Given the description of an element on the screen output the (x, y) to click on. 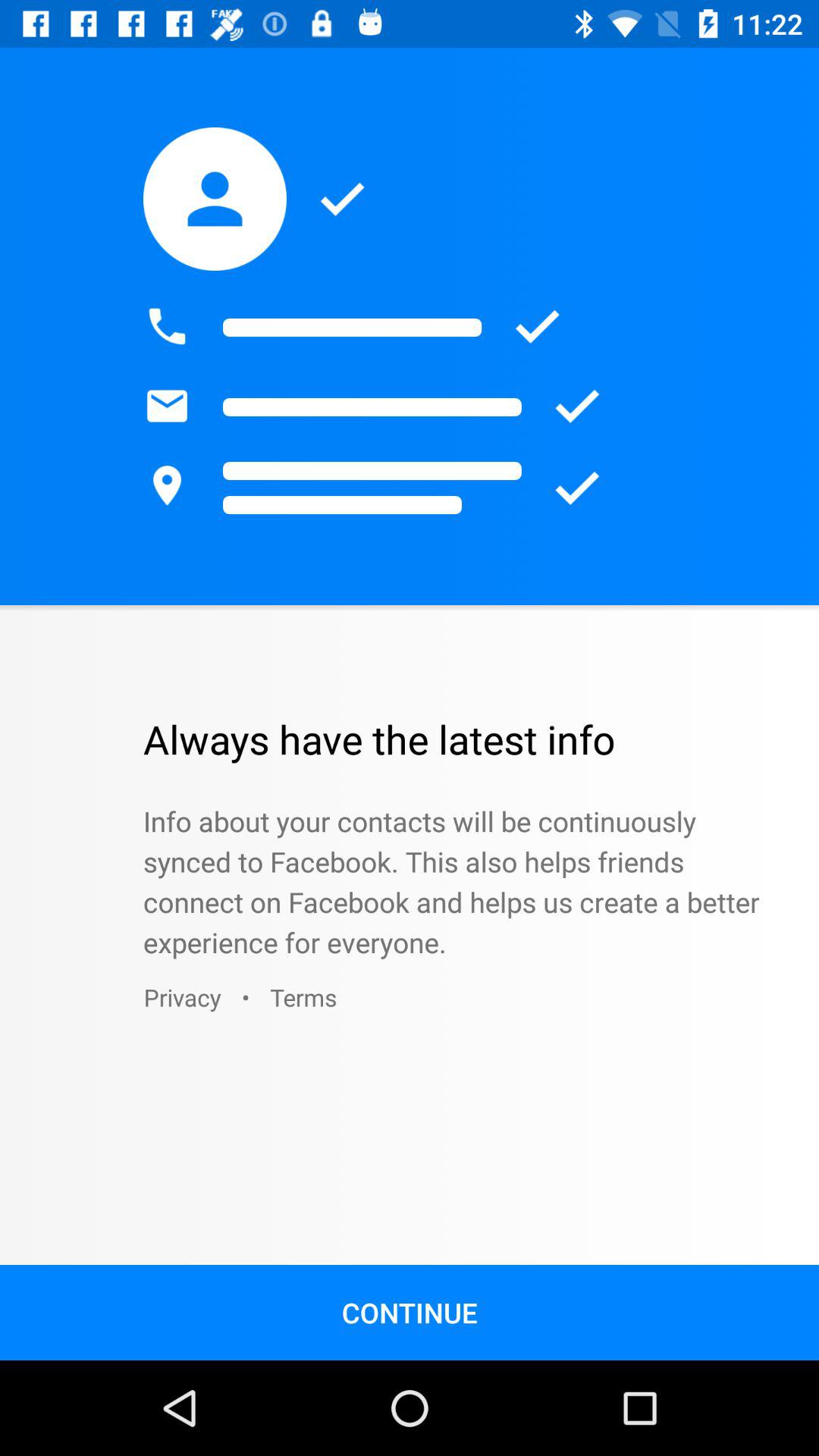
select the privacy (182, 997)
